Given the description of an element on the screen output the (x, y) to click on. 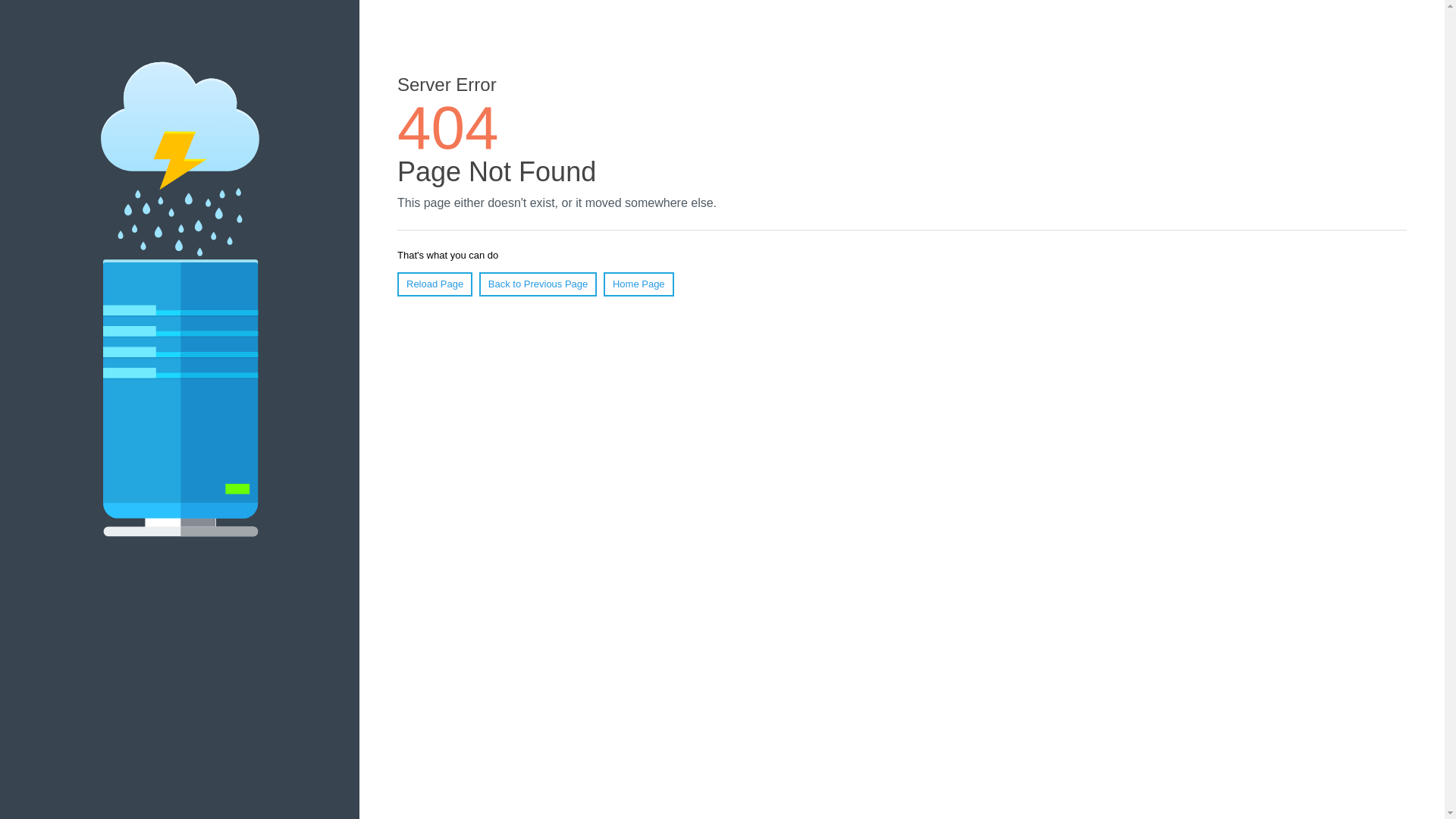
Reload Page Element type: text (434, 284)
Back to Previous Page Element type: text (538, 284)
Home Page Element type: text (638, 284)
